Given the description of an element on the screen output the (x, y) to click on. 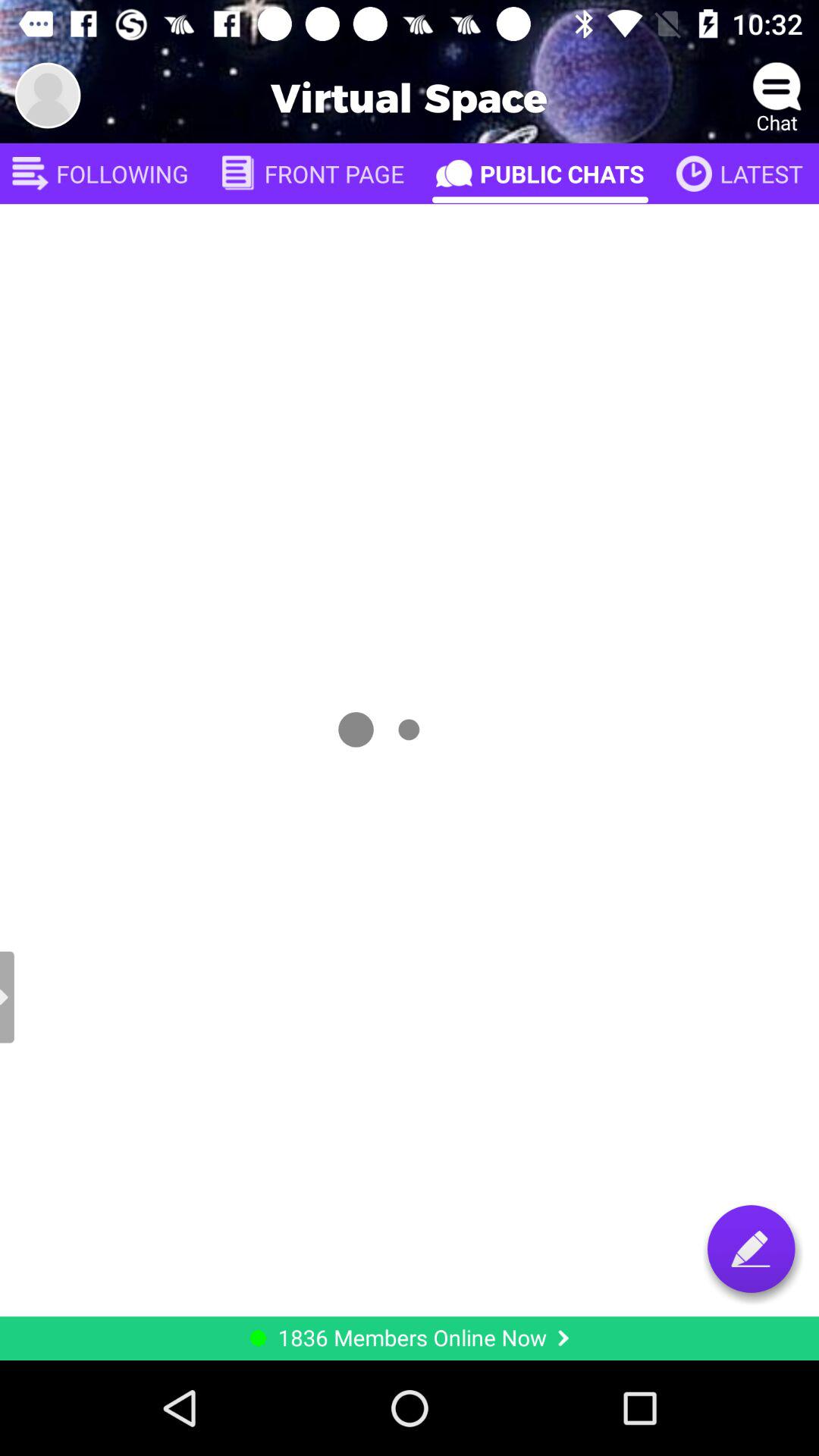
my profile (47, 95)
